Given the description of an element on the screen output the (x, y) to click on. 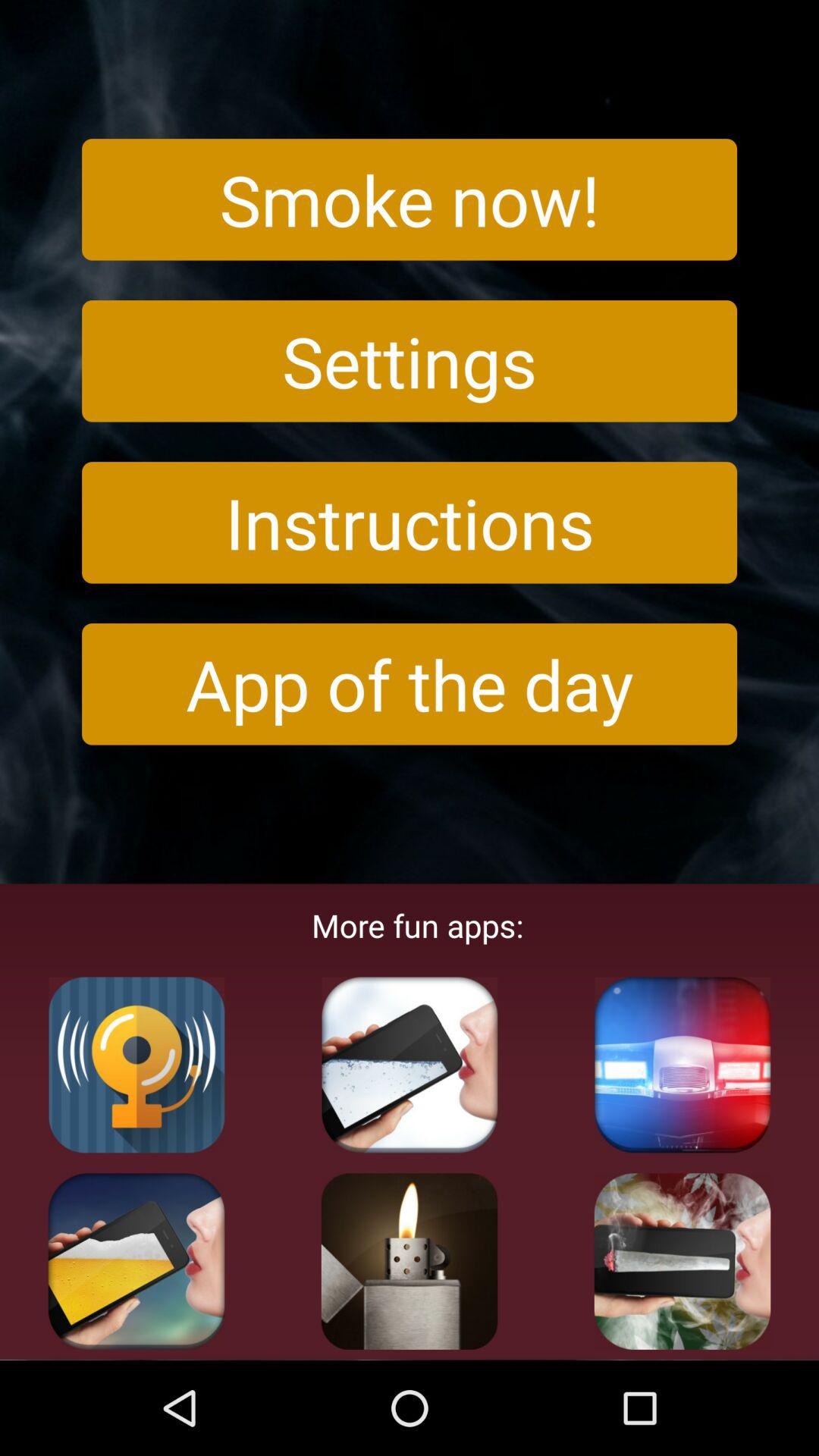
other available apps (136, 1064)
